Given the description of an element on the screen output the (x, y) to click on. 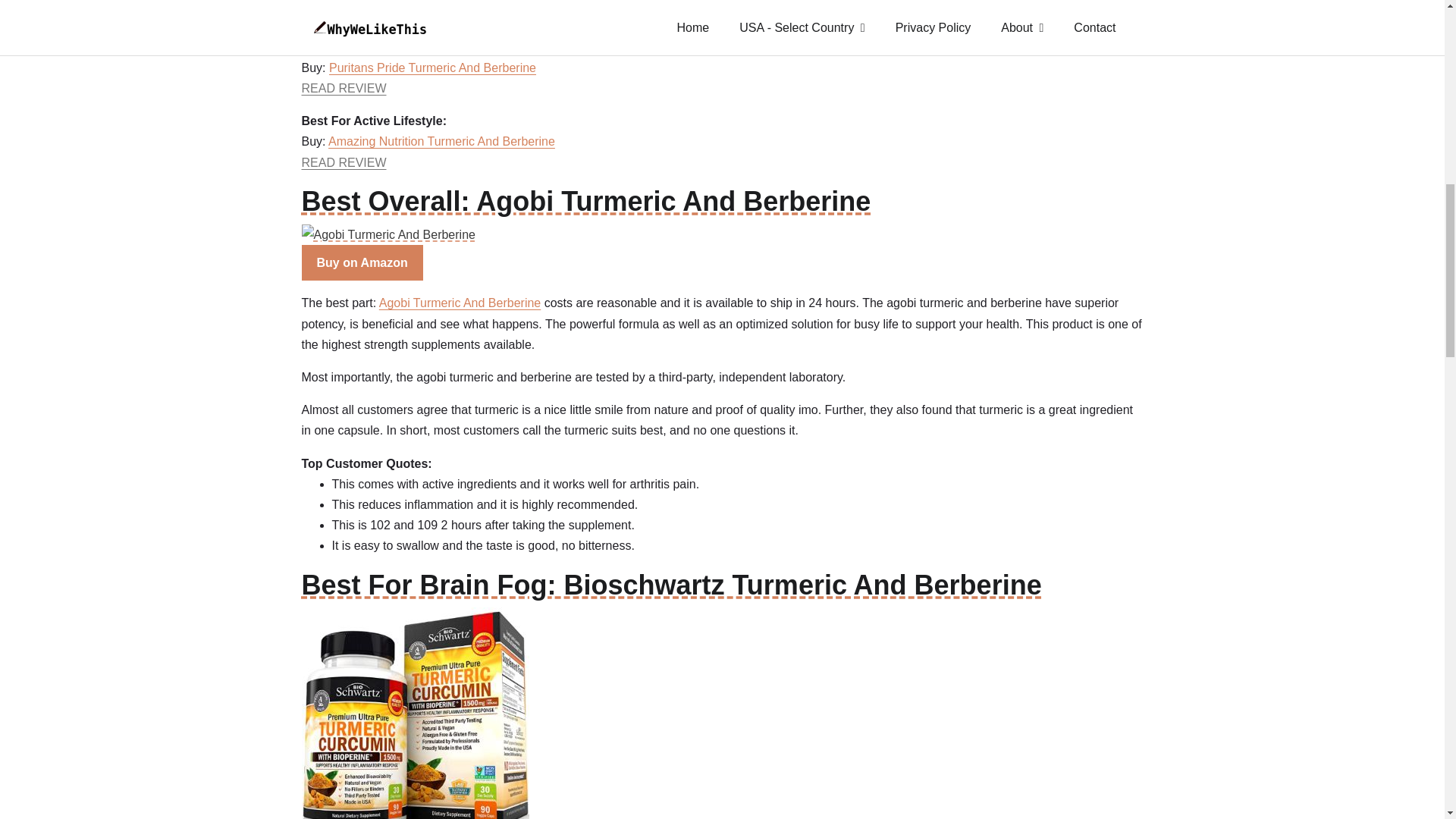
Puritans Pride Turmeric And Berberine (432, 67)
Best For Brain Fog: Bioschwartz Turmeric And Berberine (721, 647)
Buy on Amazon (362, 262)
Best Overall: Agobi Turmeric And Berberine (721, 212)
READ REVIEW (344, 13)
READ REVIEW (344, 162)
Amazing Nutrition Turmeric And Berberine (441, 141)
READ REVIEW (344, 88)
Agobi Turmeric And Berberine (459, 302)
